Given the description of an element on the screen output the (x, y) to click on. 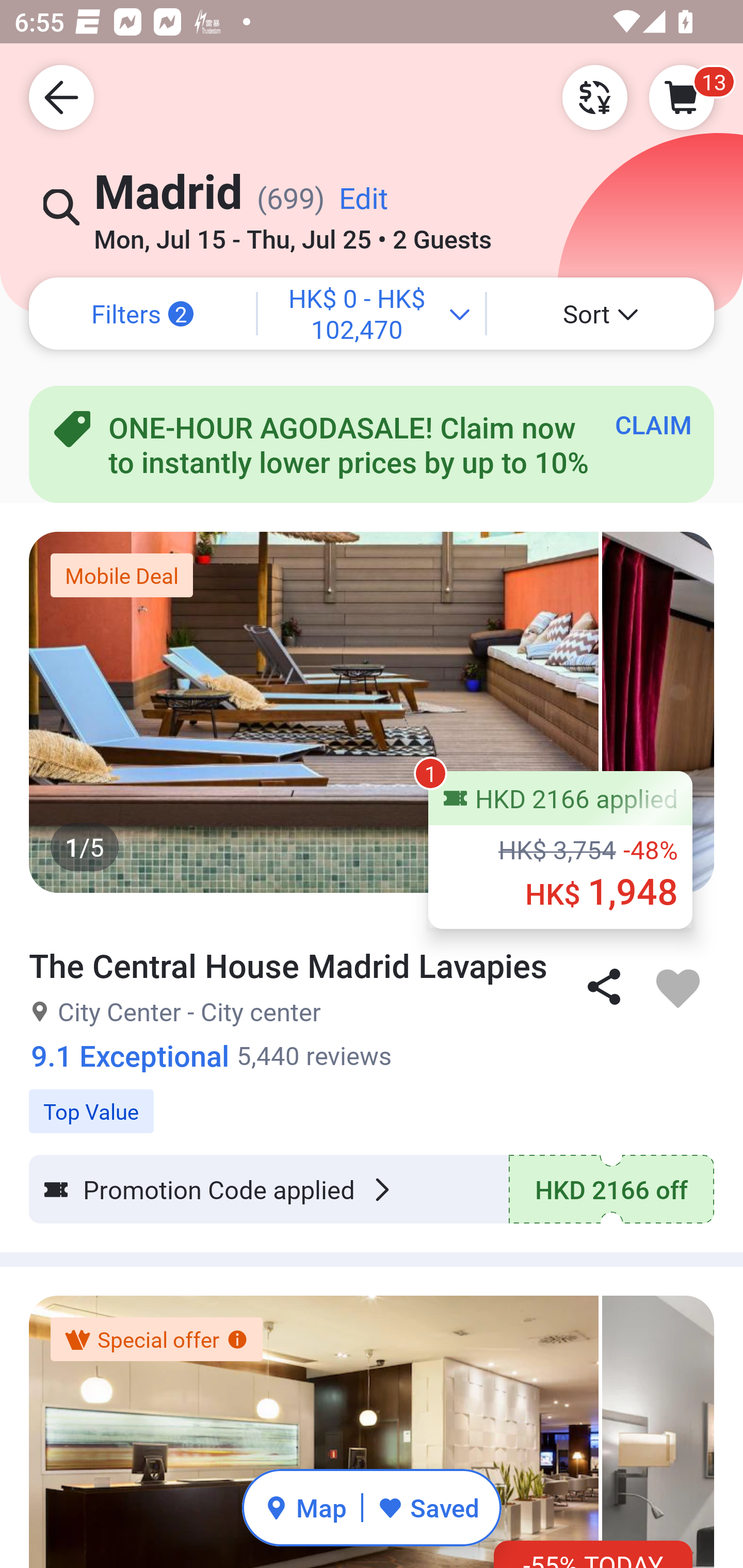
Filters 2 (141, 313)
⁦HK$ 0⁩ - ⁦HK$ 102,470⁩ (371, 313)
Sort (600, 313)
CLAIM (653, 424)
1/5 (371, 711)
Mobile Deal (121, 575)
HKD 2166 applied ‪HK$ 3,754 -48% ‪HK$ 1,948 1 (559, 849)
Top Value (371, 1100)
Promotion Code applied HKD 2166 off (371, 1189)
Special offer (156, 1339)
Map (305, 1507)
Saved (428, 1507)
